Given the description of an element on the screen output the (x, y) to click on. 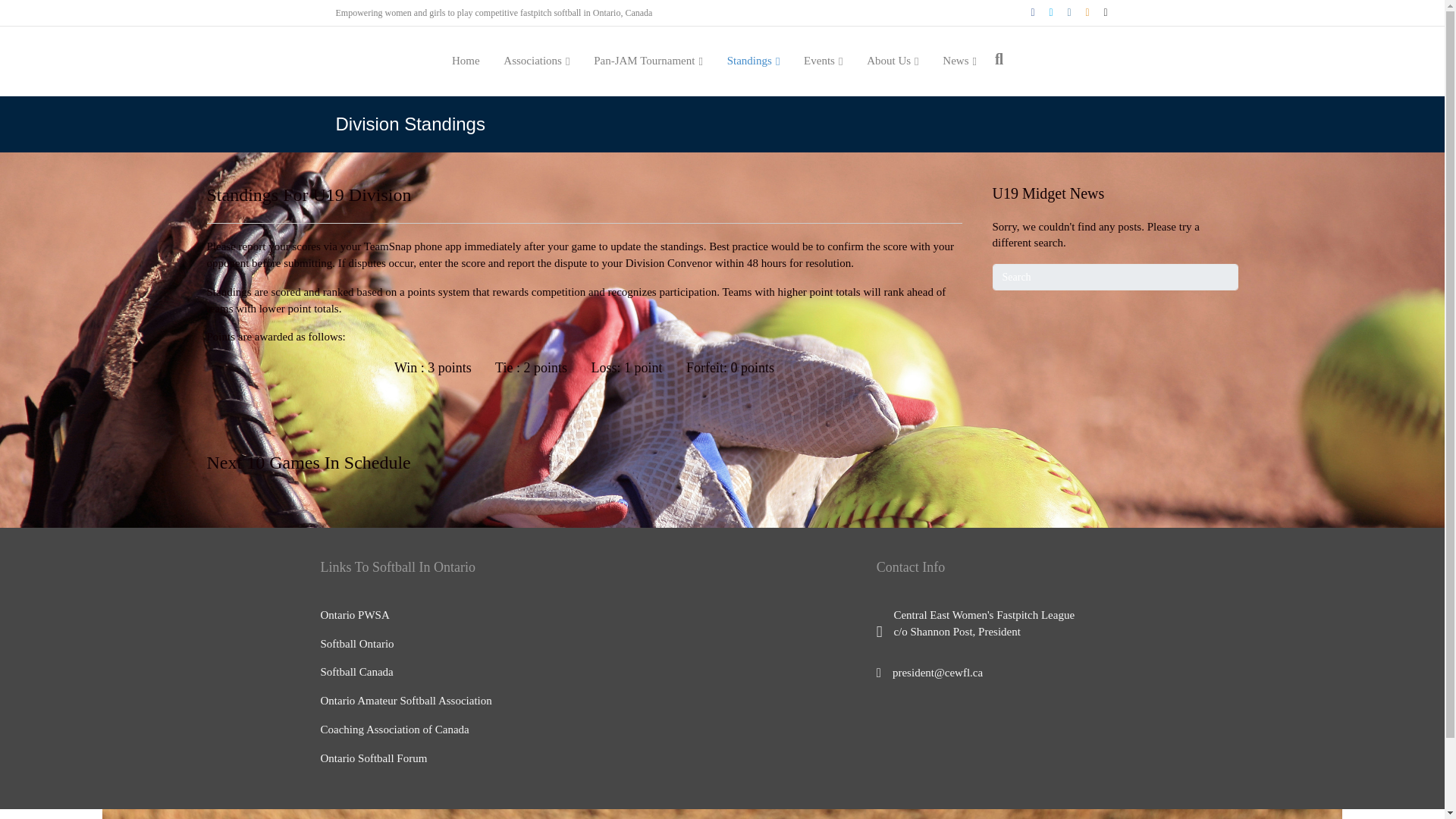
Search (1114, 276)
Search (1114, 276)
Type and press Enter to search. (1114, 276)
